Given the description of an element on the screen output the (x, y) to click on. 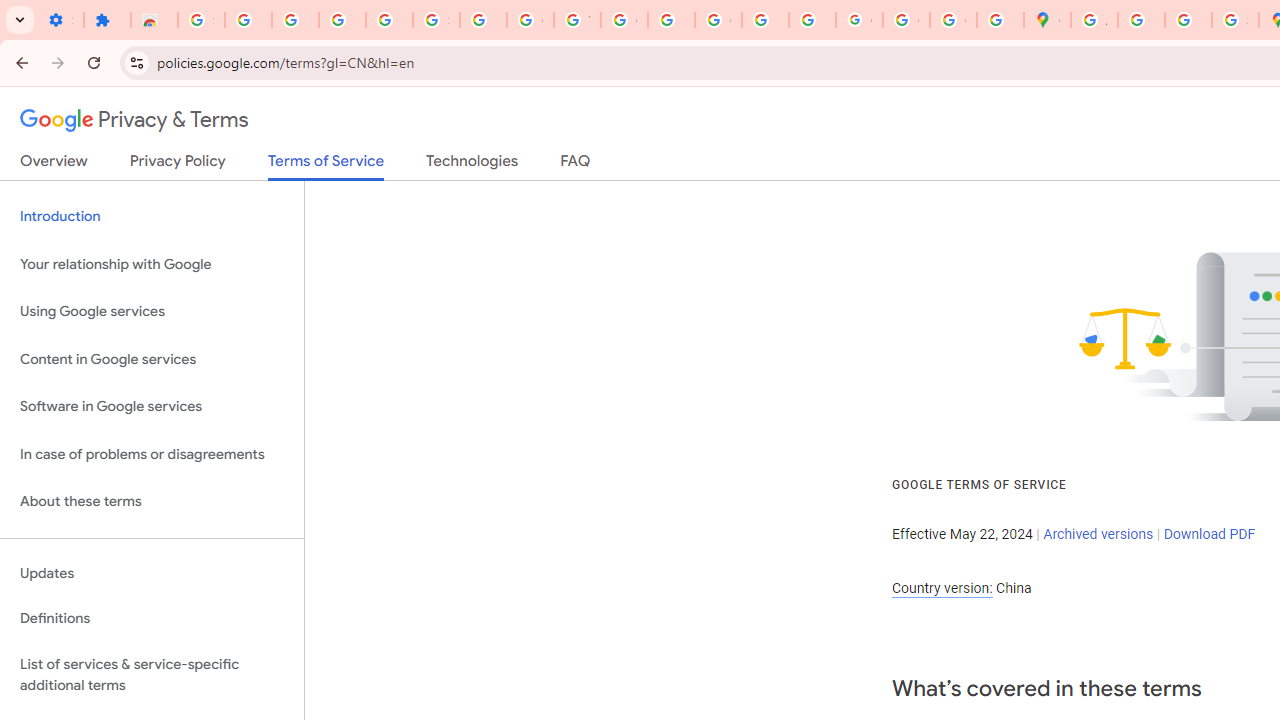
Software in Google services (152, 407)
